Given the description of an element on the screen output the (x, y) to click on. 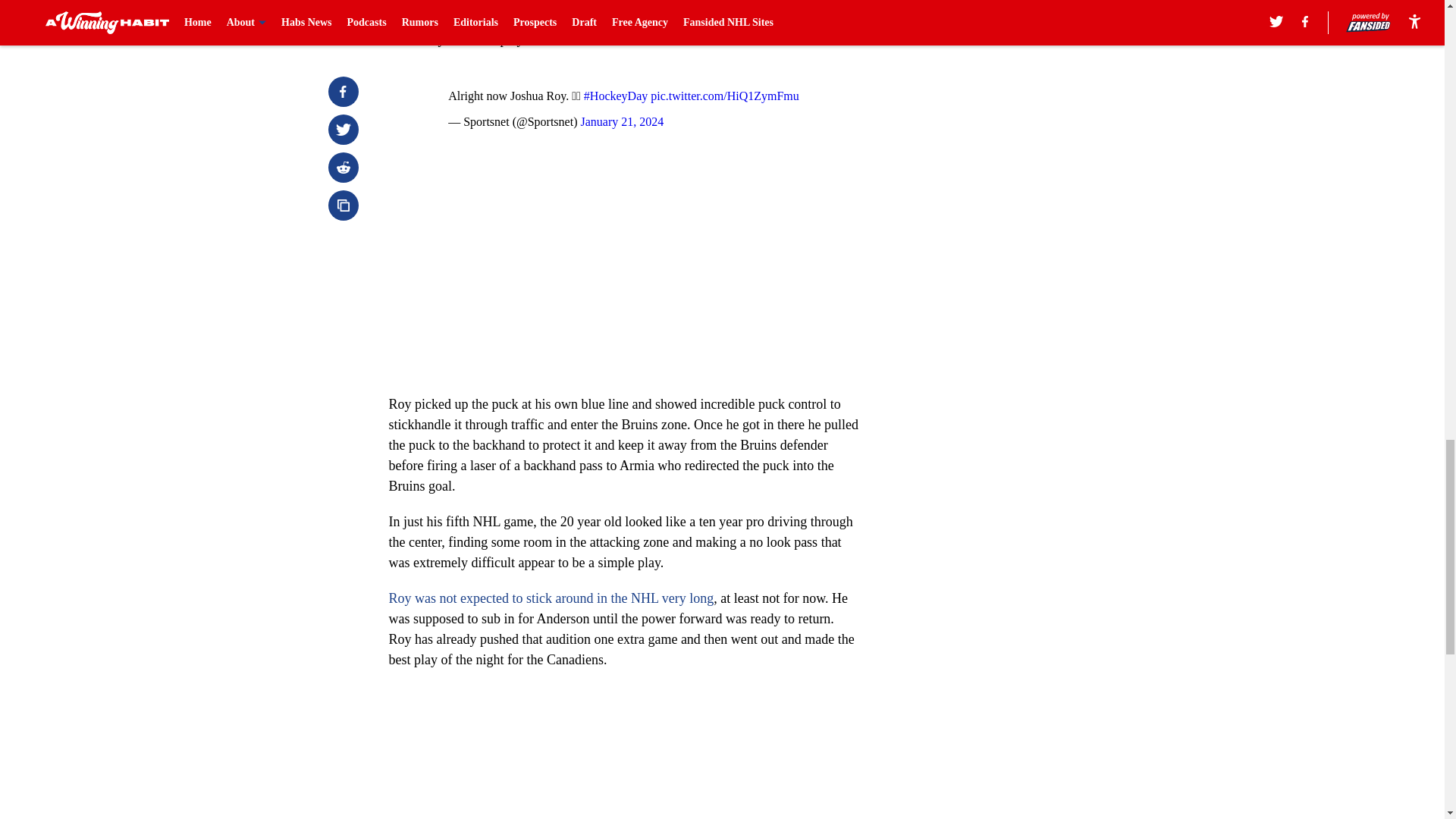
Roy was not expected to stick around in the NHL very long (550, 598)
January 21, 2024 (621, 121)
